Given the description of an element on the screen output the (x, y) to click on. 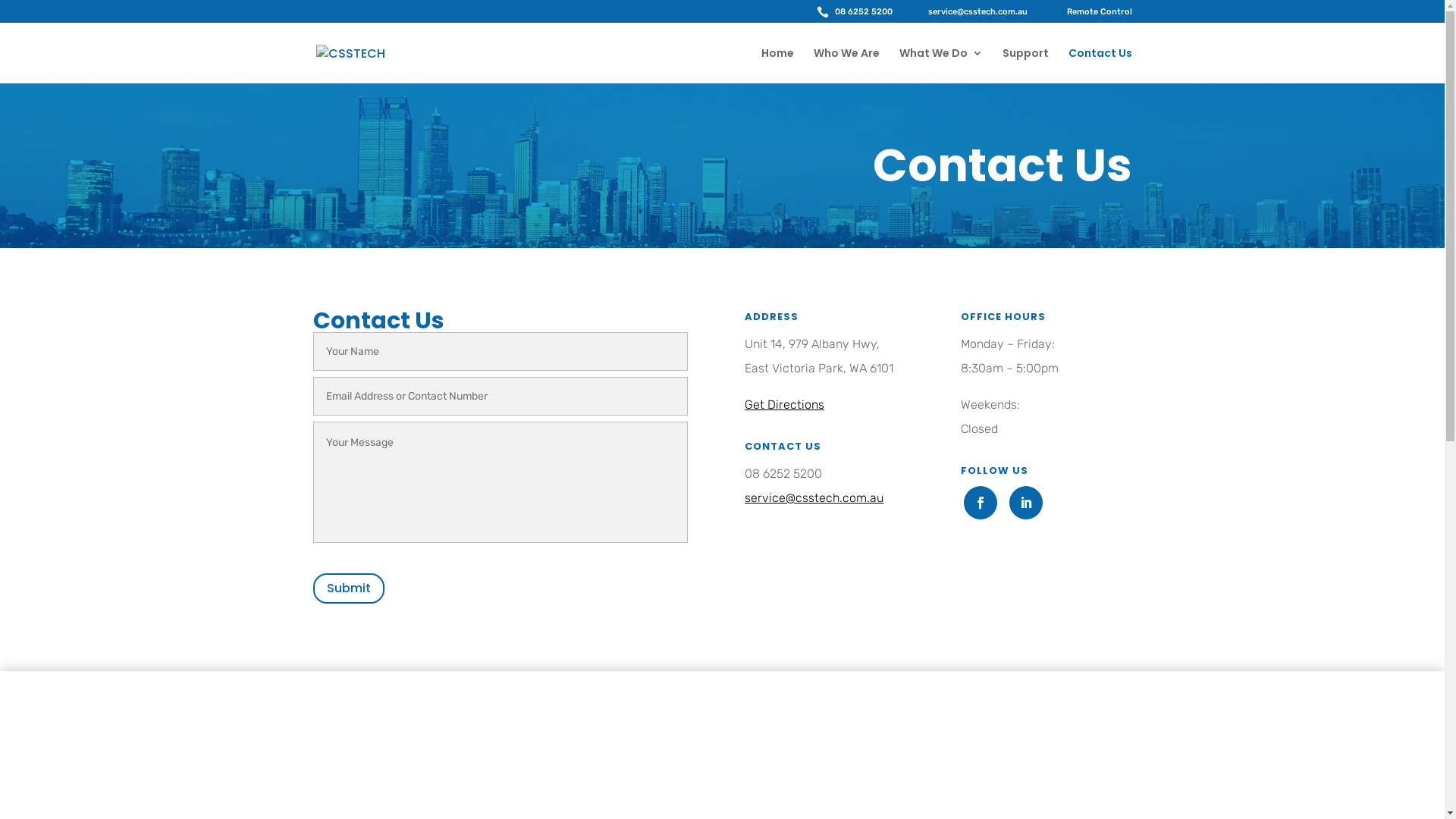
Submit Element type: text (347, 588)
Who We Are Element type: text (845, 65)
Follow on LinkedIn Element type: hover (1025, 502)
Support Element type: text (1025, 65)
Contact Us Element type: text (1099, 65)
service@csstech.com.au Element type: text (965, 14)
Home Element type: text (777, 65)
service@csstech.com.au Element type: text (813, 497)
Follow on Facebook Element type: hover (980, 502)
What We Do Element type: text (940, 65)
08 6252 5200 Element type: text (853, 14)
Get Directions Element type: text (784, 404)
Remote Control Element type: text (1085, 14)
